Given the description of an element on the screen output the (x, y) to click on. 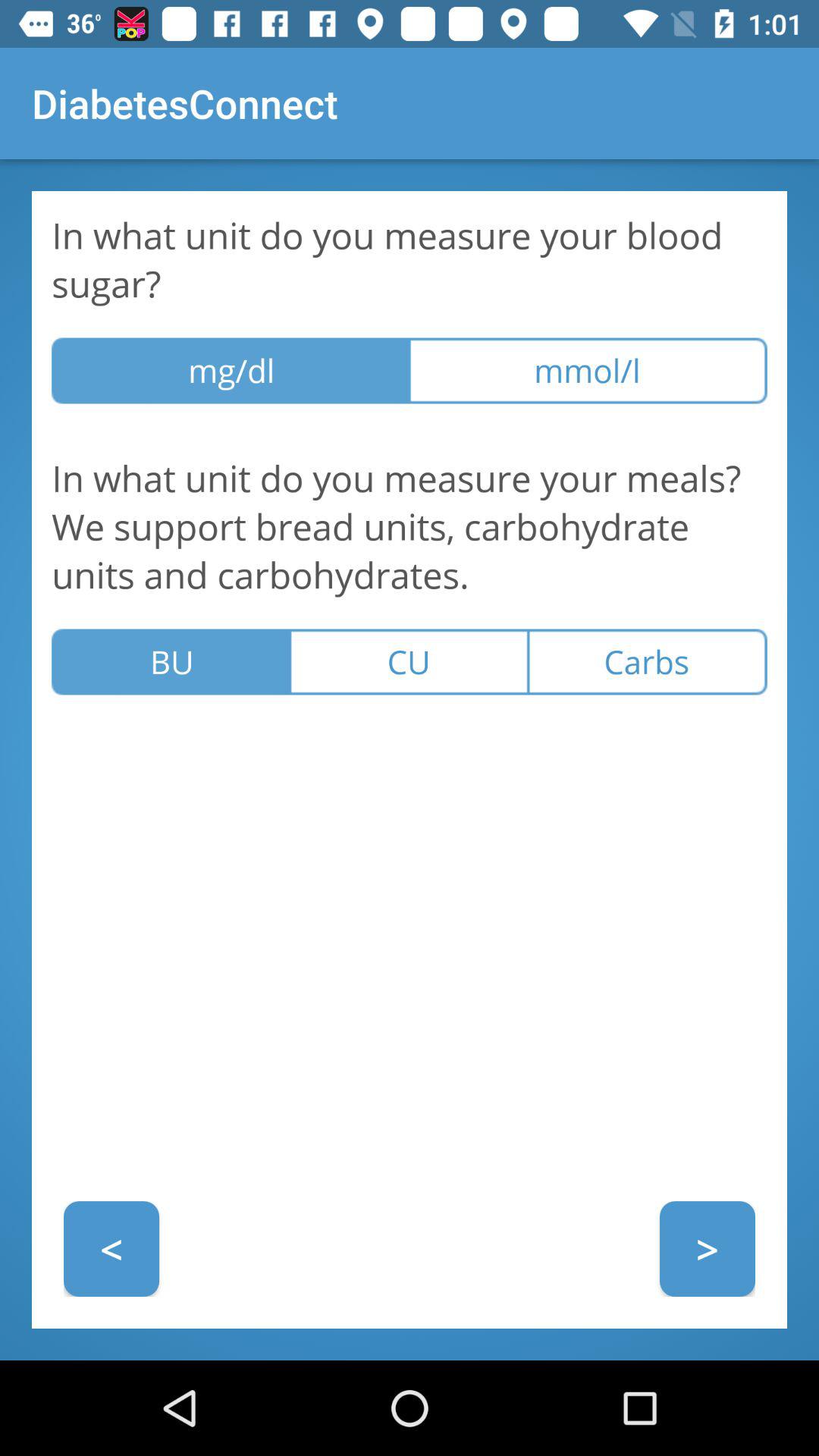
scroll until the mg/dl (230, 370)
